Given the description of an element on the screen output the (x, y) to click on. 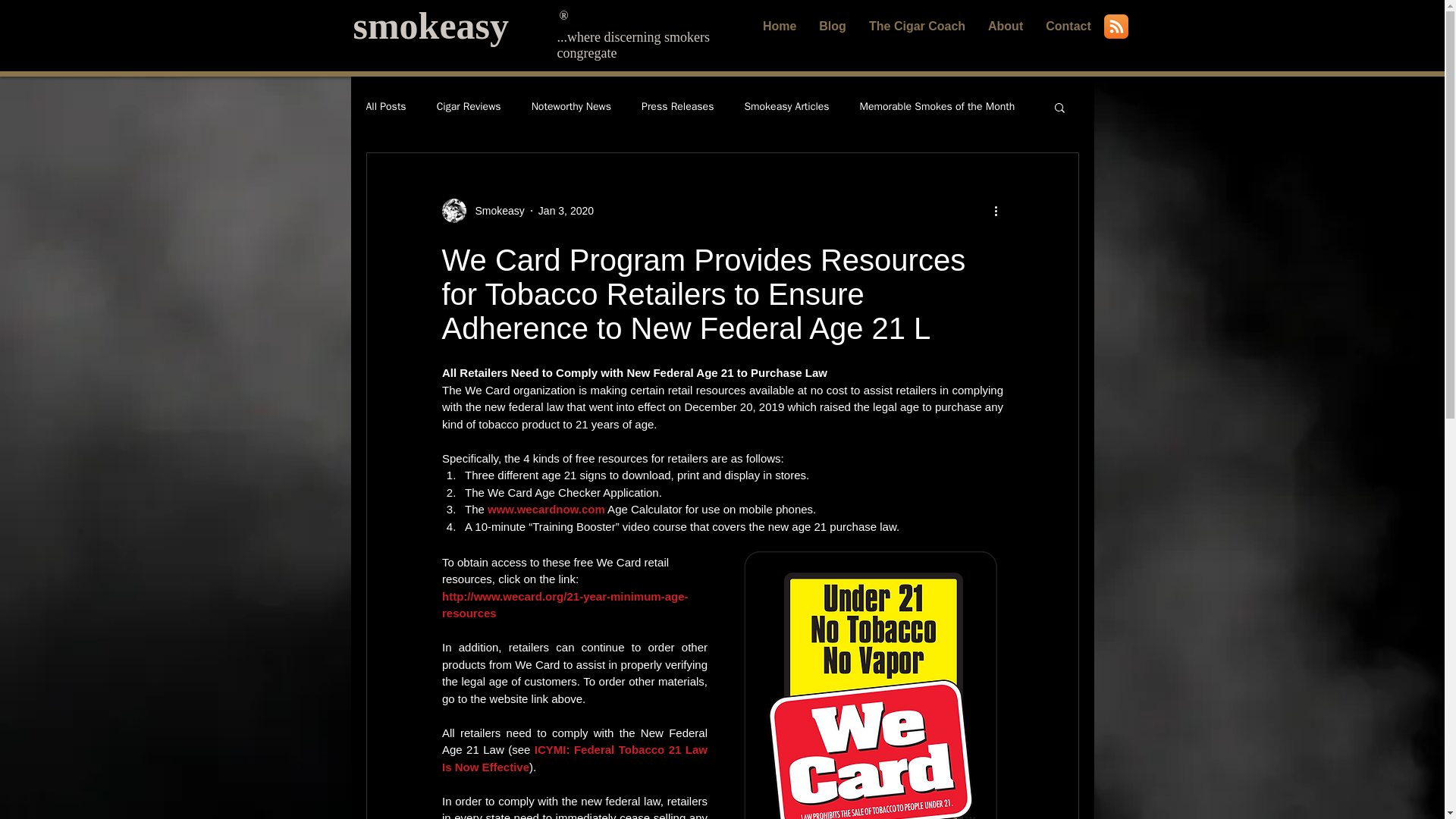
Jan 3, 2020 (566, 210)
Memorable Smokes of the Month (937, 106)
Cigar Reviews (468, 106)
Noteworthy News (571, 106)
Contact (1067, 26)
RSS Feed (1116, 26)
Press Releases (677, 106)
www.wecardnow.com (546, 508)
ICYMI: Federal Tobacco 21 Law Is Now Effective (575, 757)
Smokeasy Articles (786, 106)
